Given the description of an element on the screen output the (x, y) to click on. 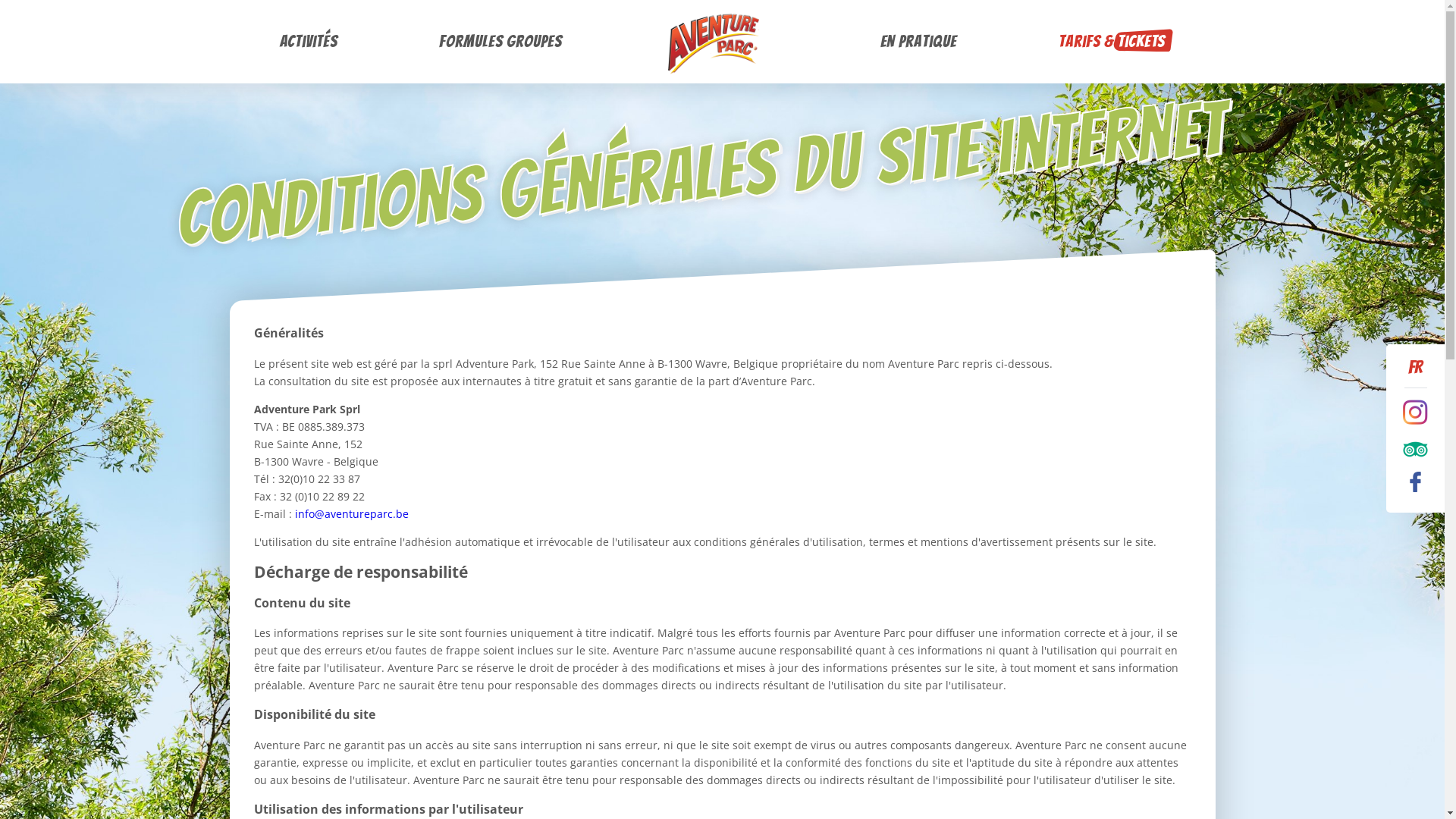
Tarifs & Tickets Element type: text (1111, 41)
NL Element type: text (1415, 388)
FR Element type: text (1415, 363)
En pratique Element type: text (918, 41)
info@aventureparc.be Element type: text (350, 513)
Formules groupes Element type: text (499, 41)
